Given the description of an element on the screen output the (x, y) to click on. 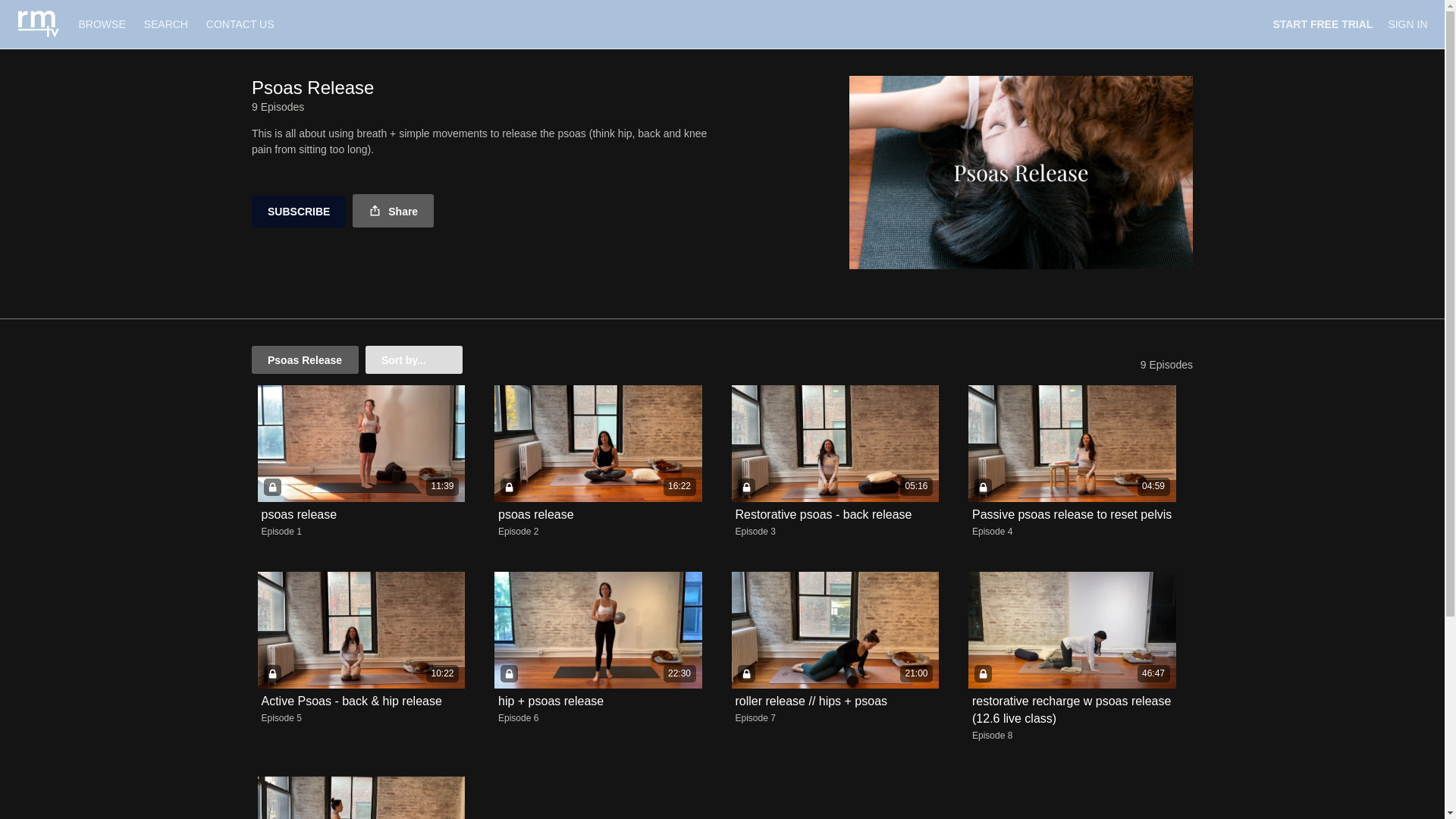
05:16 (834, 443)
16:22 (598, 443)
Passive psoas release to reset pelvis (1072, 513)
psoas release (535, 513)
29:19 (361, 797)
10:22 (361, 629)
psoas release (535, 514)
46:47 (1072, 629)
Restorative psoas - back release (823, 513)
START FREE TRIAL (1322, 24)
21:00 (834, 629)
Restorative psoas - back release (823, 514)
psoas release (298, 514)
04:59 (1072, 443)
Skip to main content (48, 7)
